Given the description of an element on the screen output the (x, y) to click on. 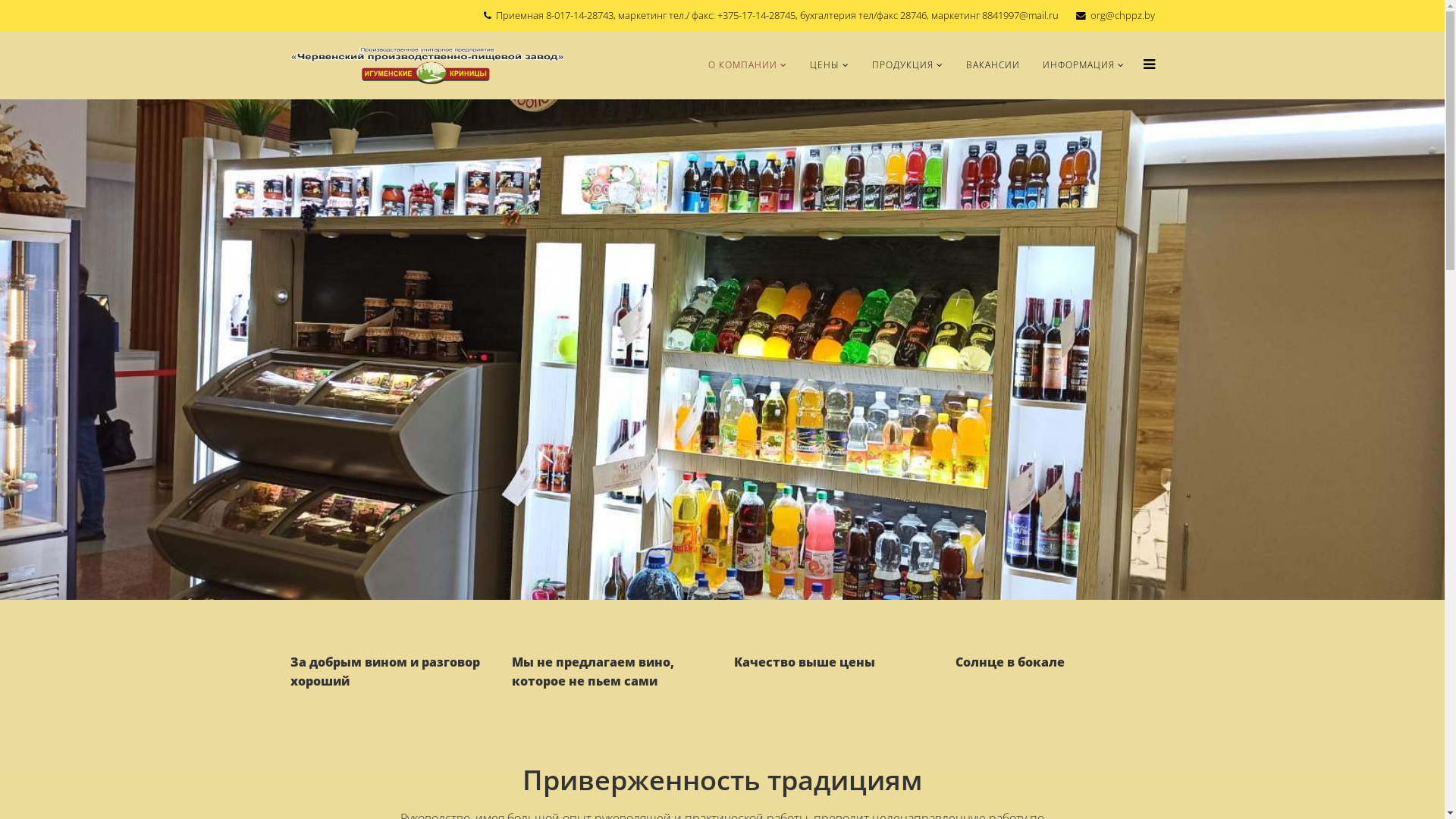
org@chppz.by Element type: text (1122, 15)
